Given the description of an element on the screen output the (x, y) to click on. 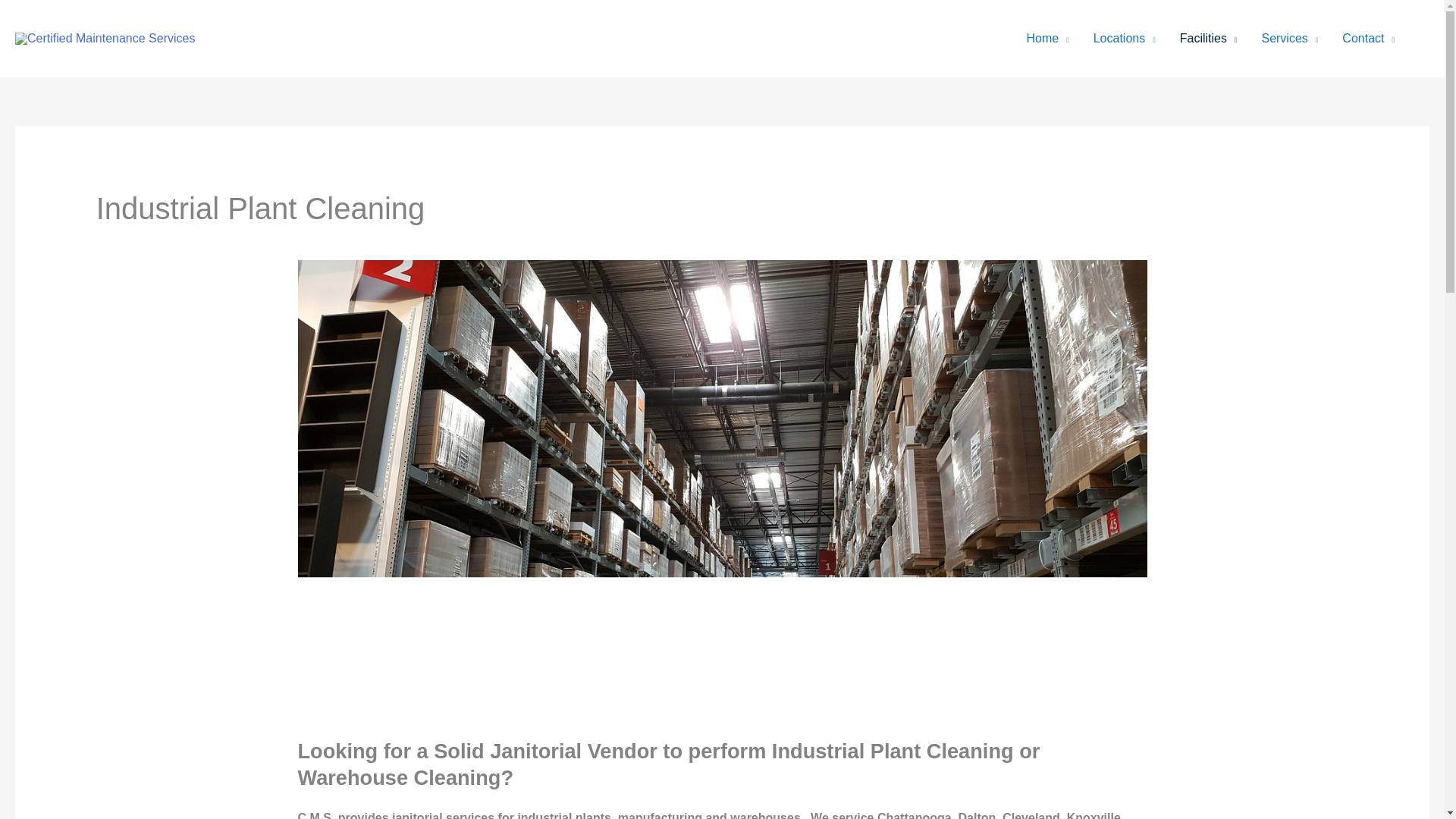
Home (1047, 38)
Services (1289, 38)
Facilities (1208, 38)
Locations (1124, 38)
